Given the description of an element on the screen output the (x, y) to click on. 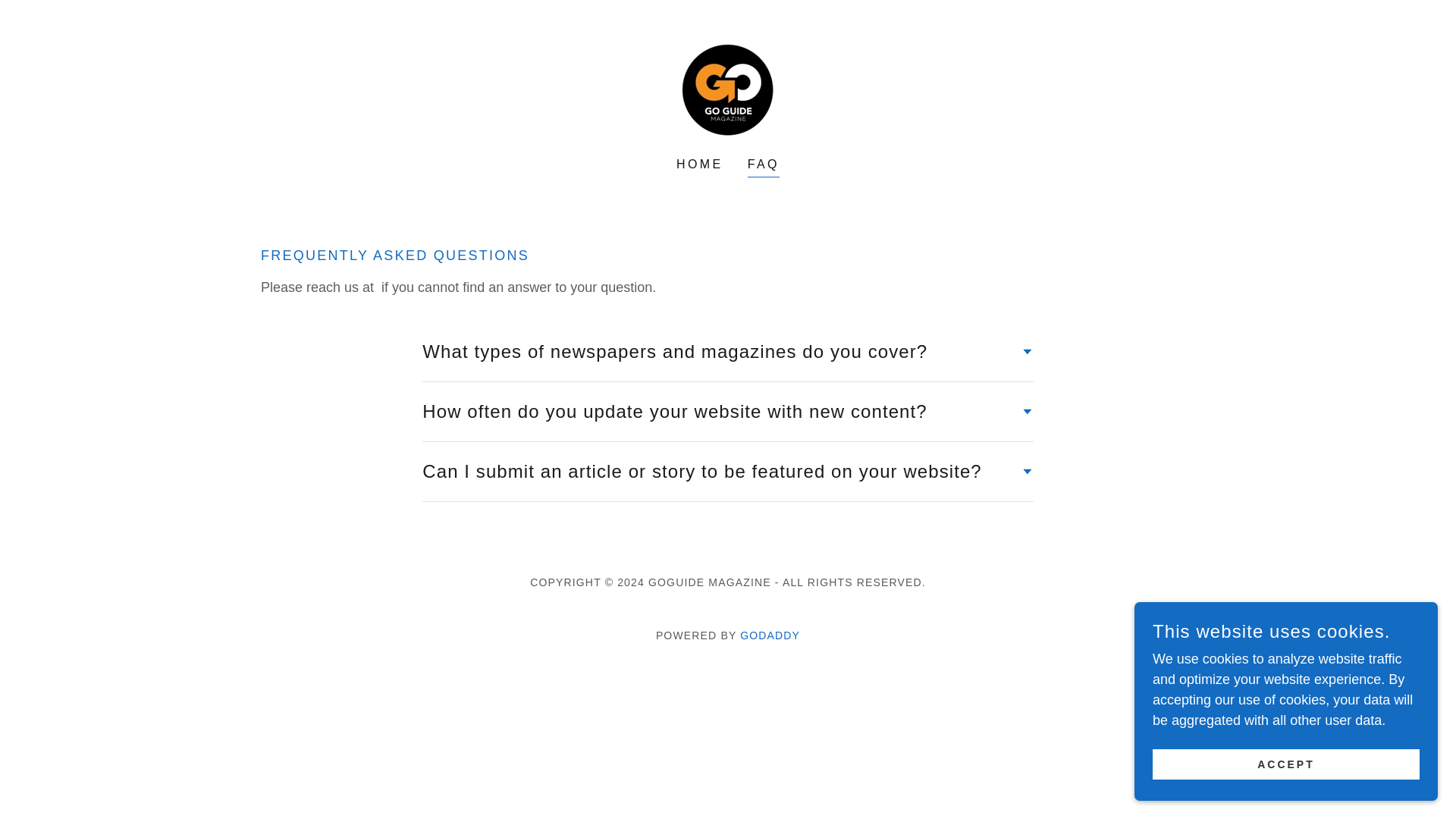
HOME (699, 164)
GoGuide Magazine (726, 88)
FAQ (763, 166)
ACCEPT (1286, 764)
How often do you update your website with new content? (727, 411)
What types of newspapers and magazines do you cover? (727, 351)
GODADDY (769, 635)
